Given the description of an element on the screen output the (x, y) to click on. 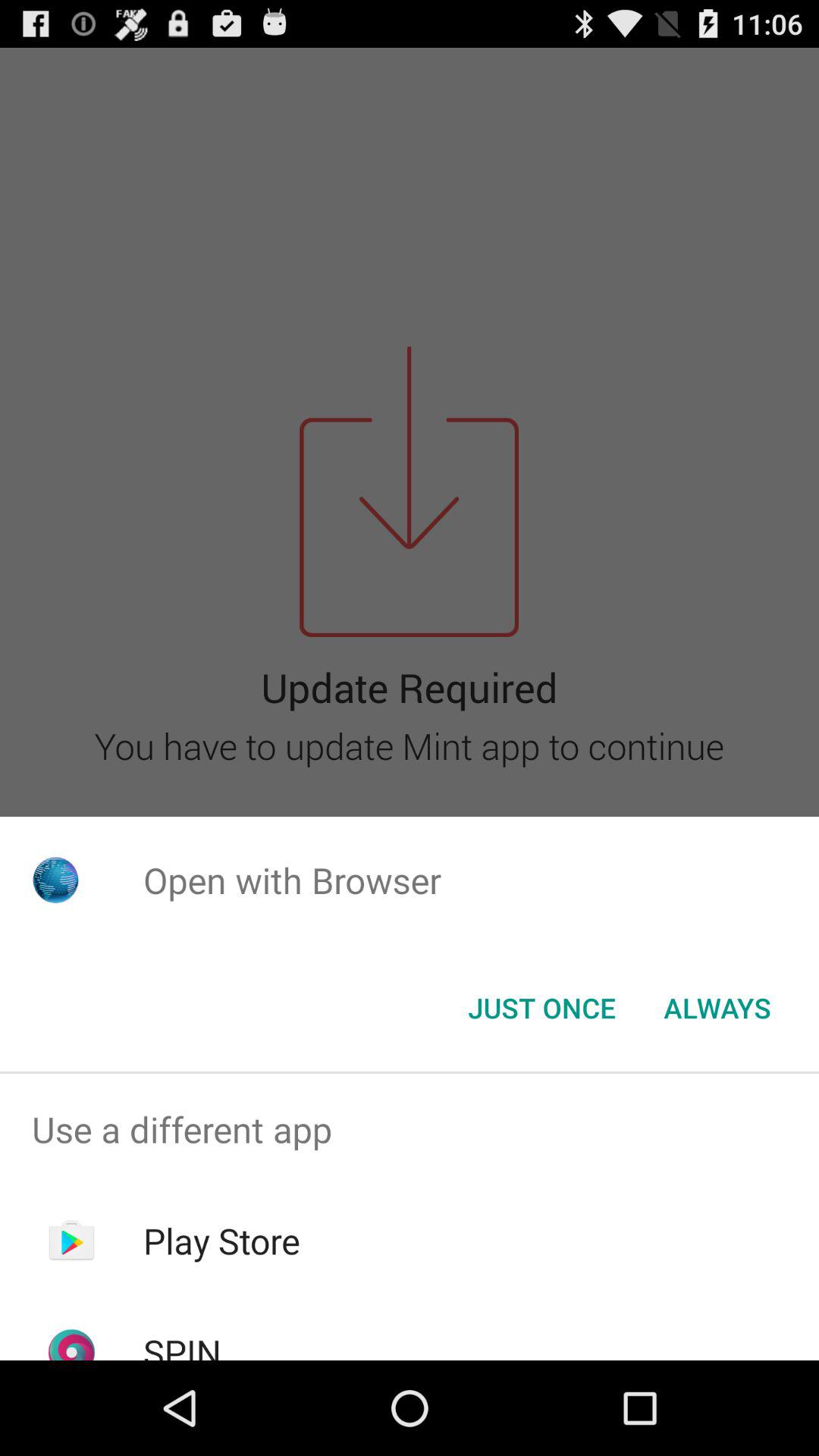
open item to the left of always icon (541, 1007)
